Given the description of an element on the screen output the (x, y) to click on. 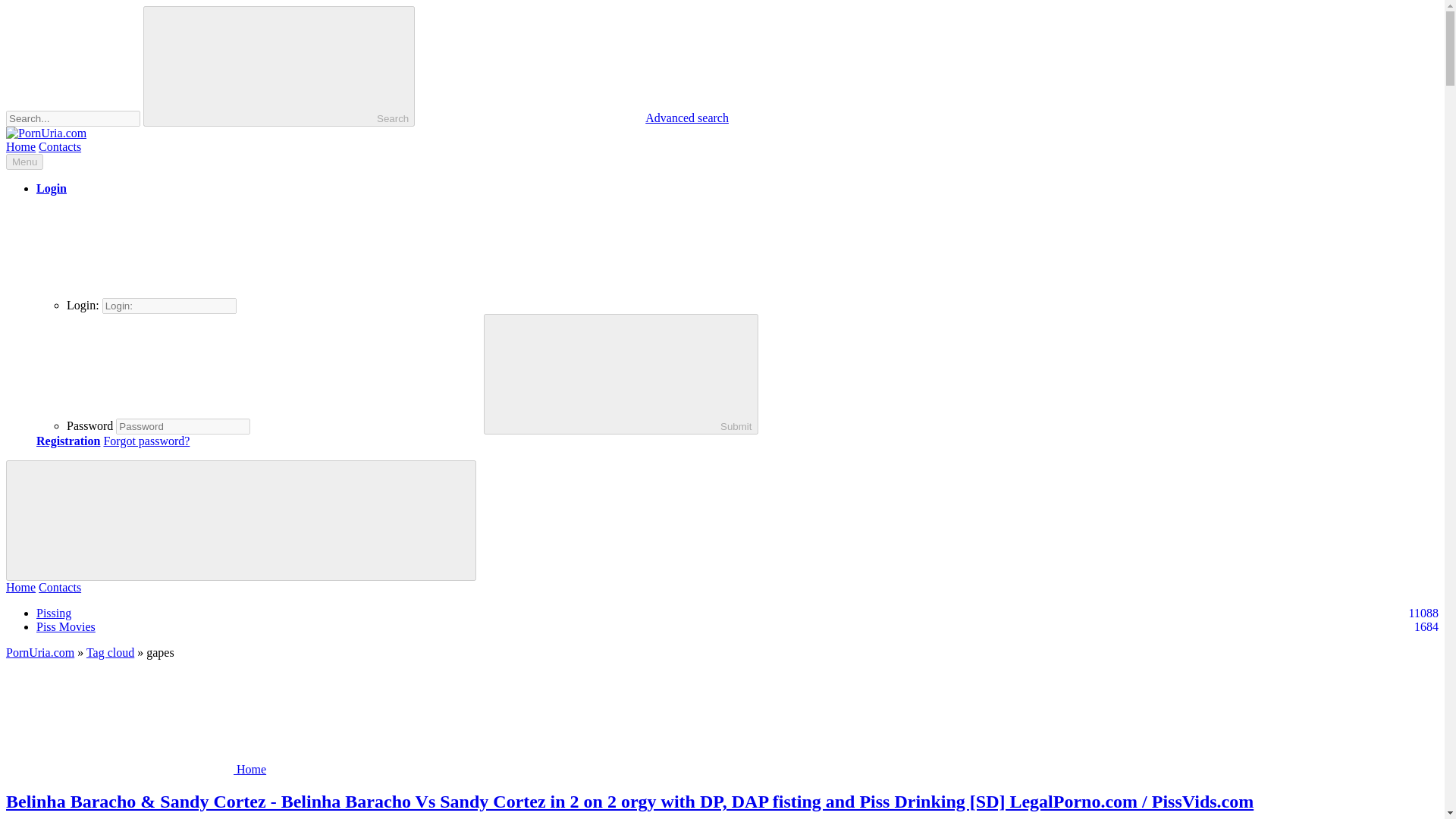
Registration (68, 440)
Submit (620, 373)
Contacts (60, 586)
Contacts (60, 146)
Home (19, 146)
Login (51, 187)
Menu (24, 161)
Tag cloud (109, 652)
PornUria.com (39, 652)
Advanced search (573, 117)
Search (66, 626)
Home (278, 65)
Search (19, 586)
Submit (278, 65)
